Given the description of an element on the screen output the (x, y) to click on. 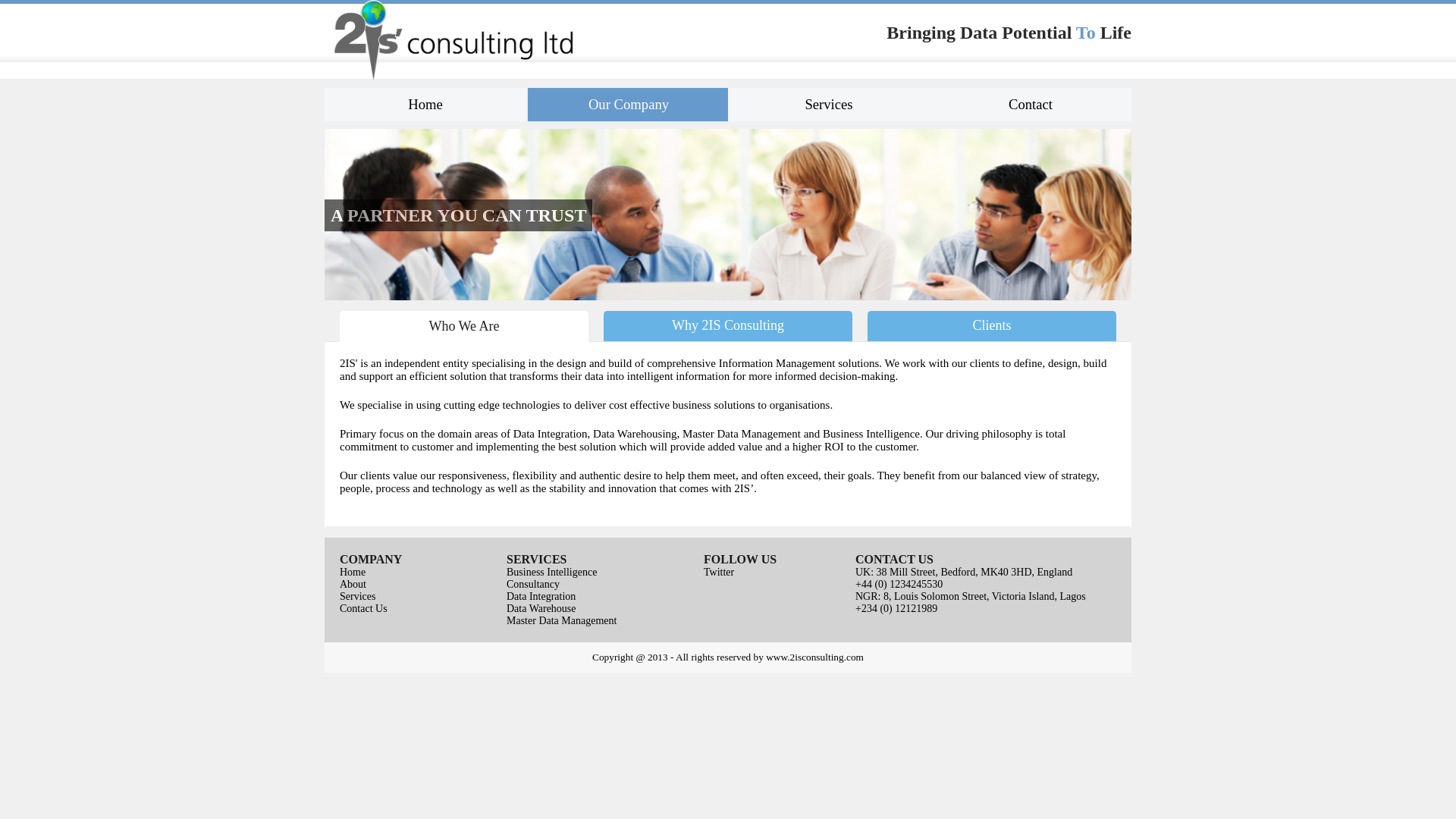
Services Element type: text (357, 596)
Our Company Element type: text (628, 104)
Home Element type: text (425, 104)
Why 2IS Consulting Element type: text (727, 325)
Clients Element type: text (991, 325)
Home Element type: text (352, 571)
Twitter Element type: text (718, 571)
Data Integration Element type: text (540, 596)
+44 (0) 1234245530 Element type: text (898, 583)
Contact Us Element type: text (363, 608)
Contact Element type: text (1030, 104)
About Element type: text (352, 583)
Business Intelligence Element type: text (551, 571)
Consultancy Element type: text (532, 583)
Master Data Management Element type: text (561, 620)
+234 (0) 12121989 Element type: text (896, 608)
Who We Are Element type: text (463, 326)
Services Element type: text (828, 104)
Data Warehouse Element type: text (541, 608)
